Given the description of an element on the screen output the (x, y) to click on. 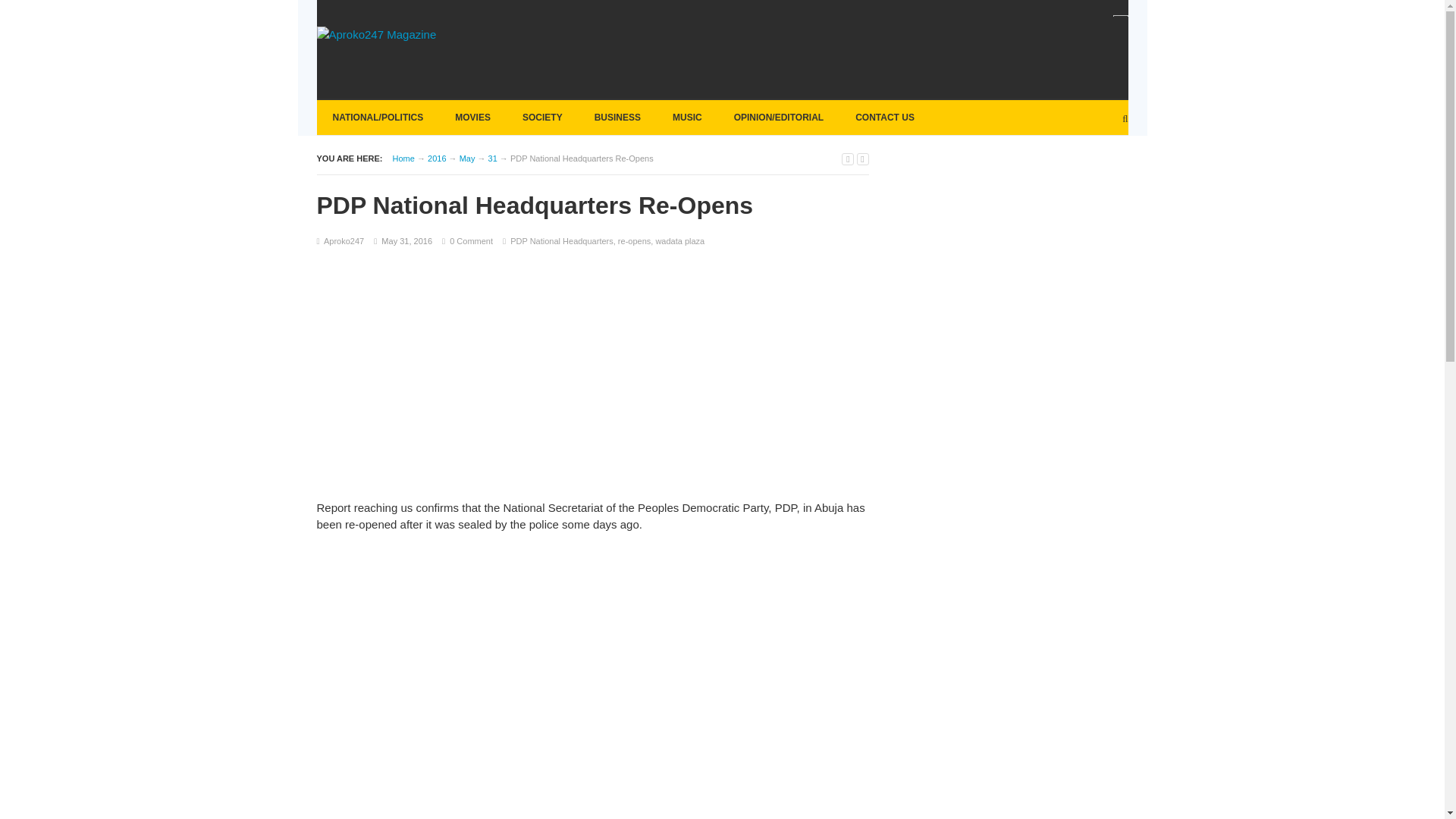
wadata plaza (679, 240)
0 Comment (471, 240)
Home (403, 157)
2016 (436, 157)
May (468, 157)
re-opens (633, 240)
Aproko247 Magazine (403, 157)
MOVIES (473, 117)
MUSIC (687, 117)
SOCIETY (542, 117)
CONTACT US (885, 117)
Previous Post (847, 158)
31 (492, 157)
Aproko247 (343, 240)
PDP National Headquarters (561, 240)
